Given the description of an element on the screen output the (x, y) to click on. 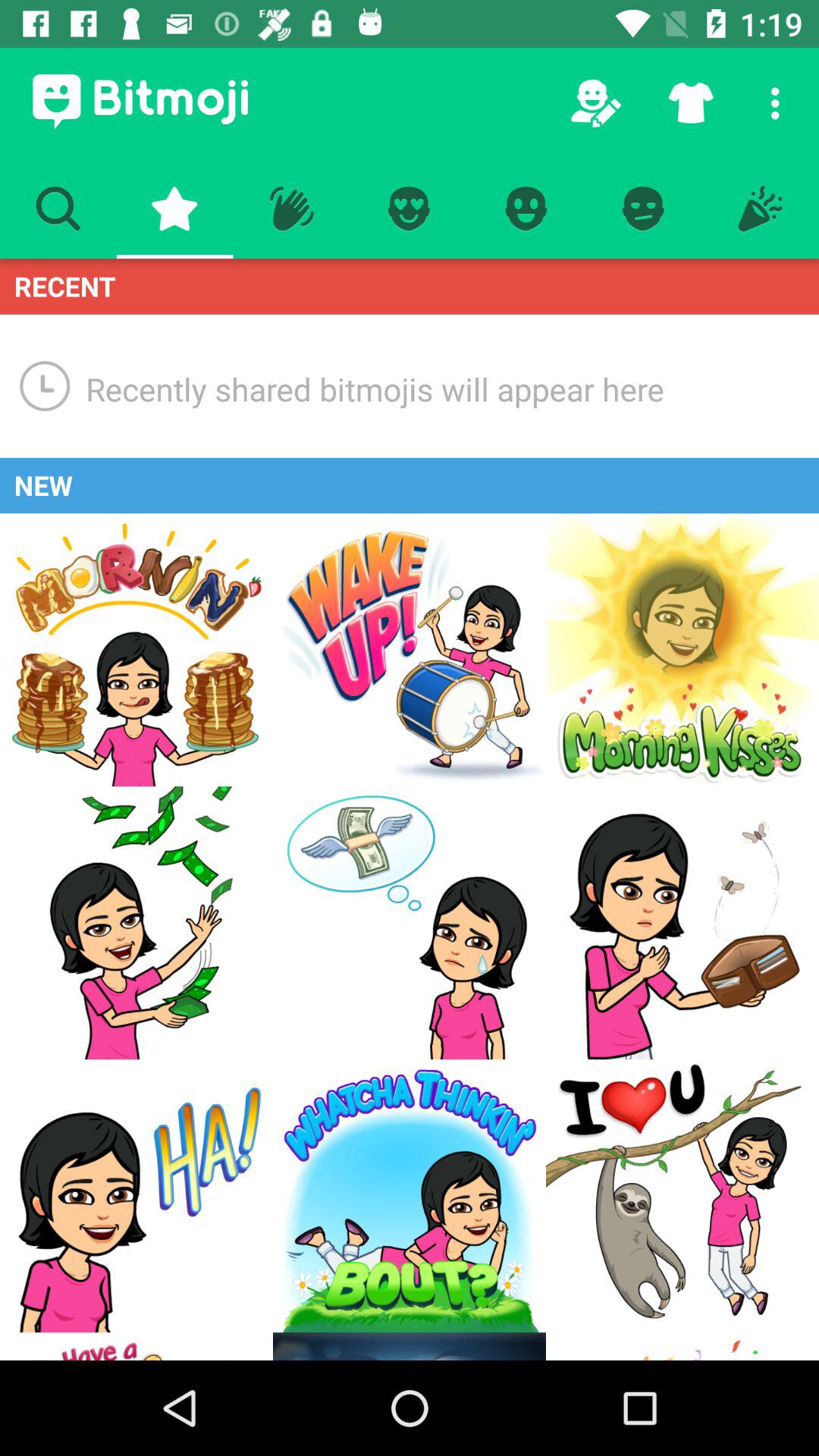
send wake up emoji (409, 649)
